Given the description of an element on the screen output the (x, y) to click on. 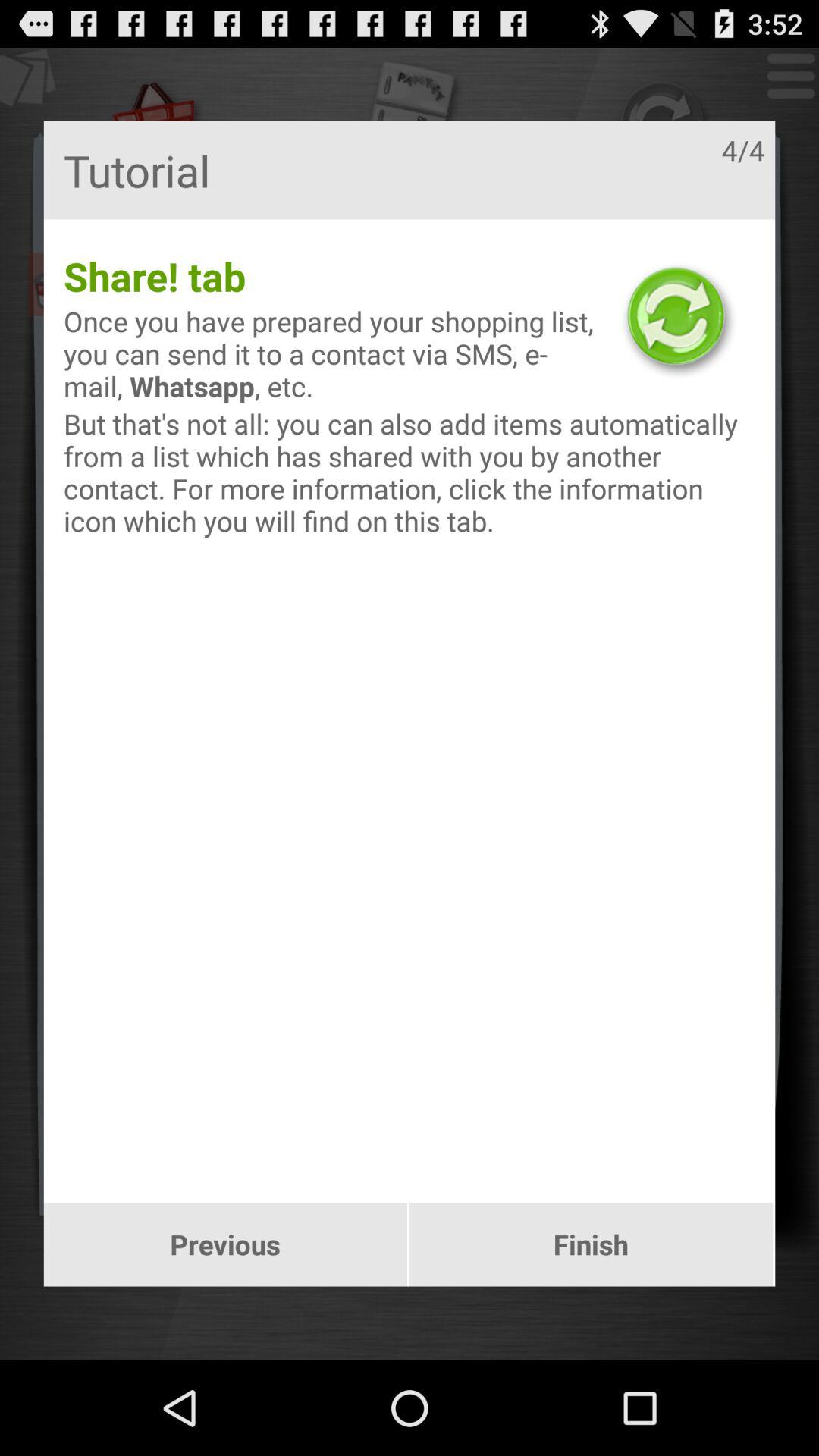
launch the app below but that s app (590, 1244)
